Given the description of an element on the screen output the (x, y) to click on. 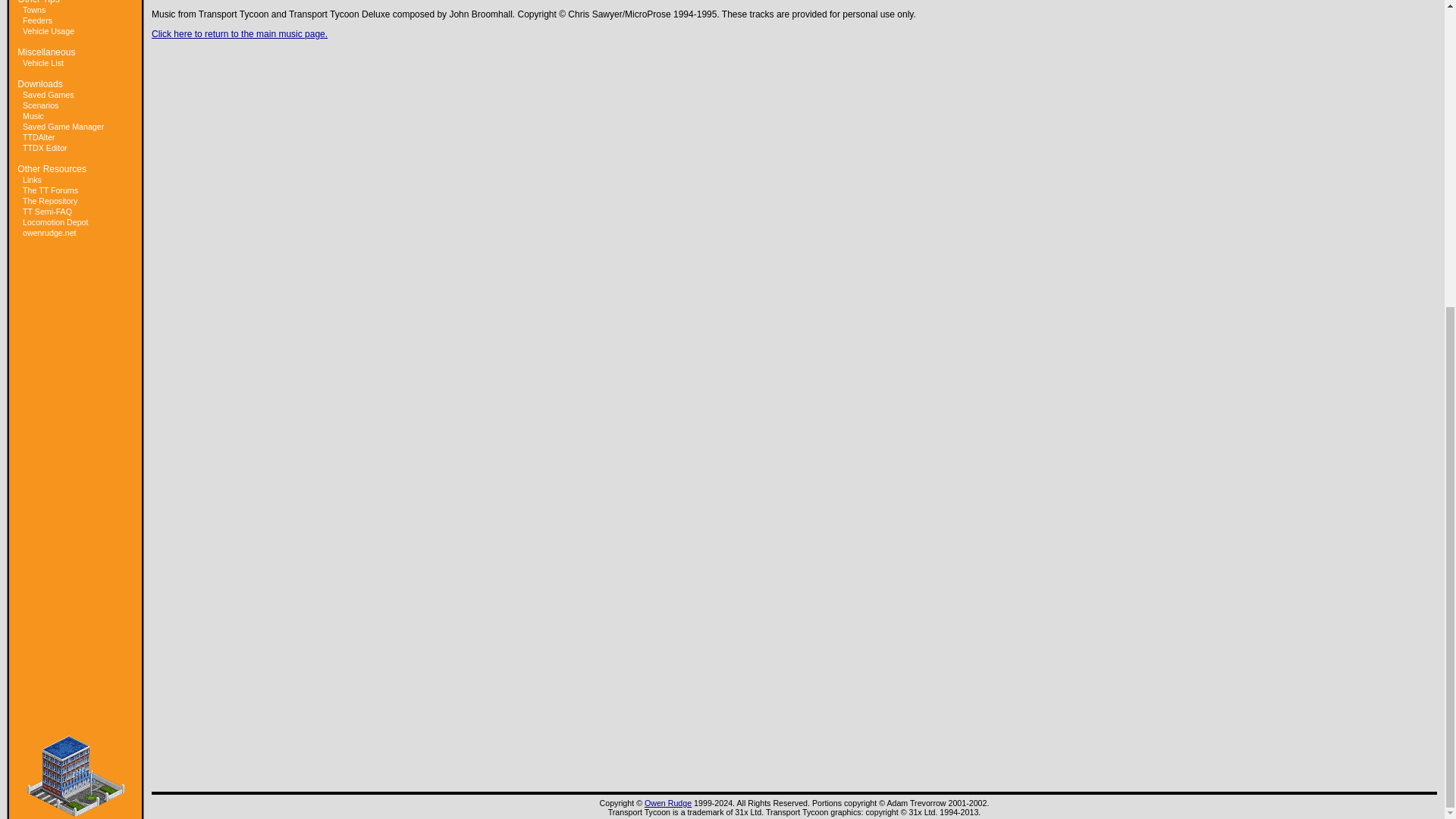
Towns (34, 9)
Vehicle Usage (48, 31)
Miscellaneous (46, 51)
Other Tips (38, 2)
Feeders (37, 20)
